Given the description of an element on the screen output the (x, y) to click on. 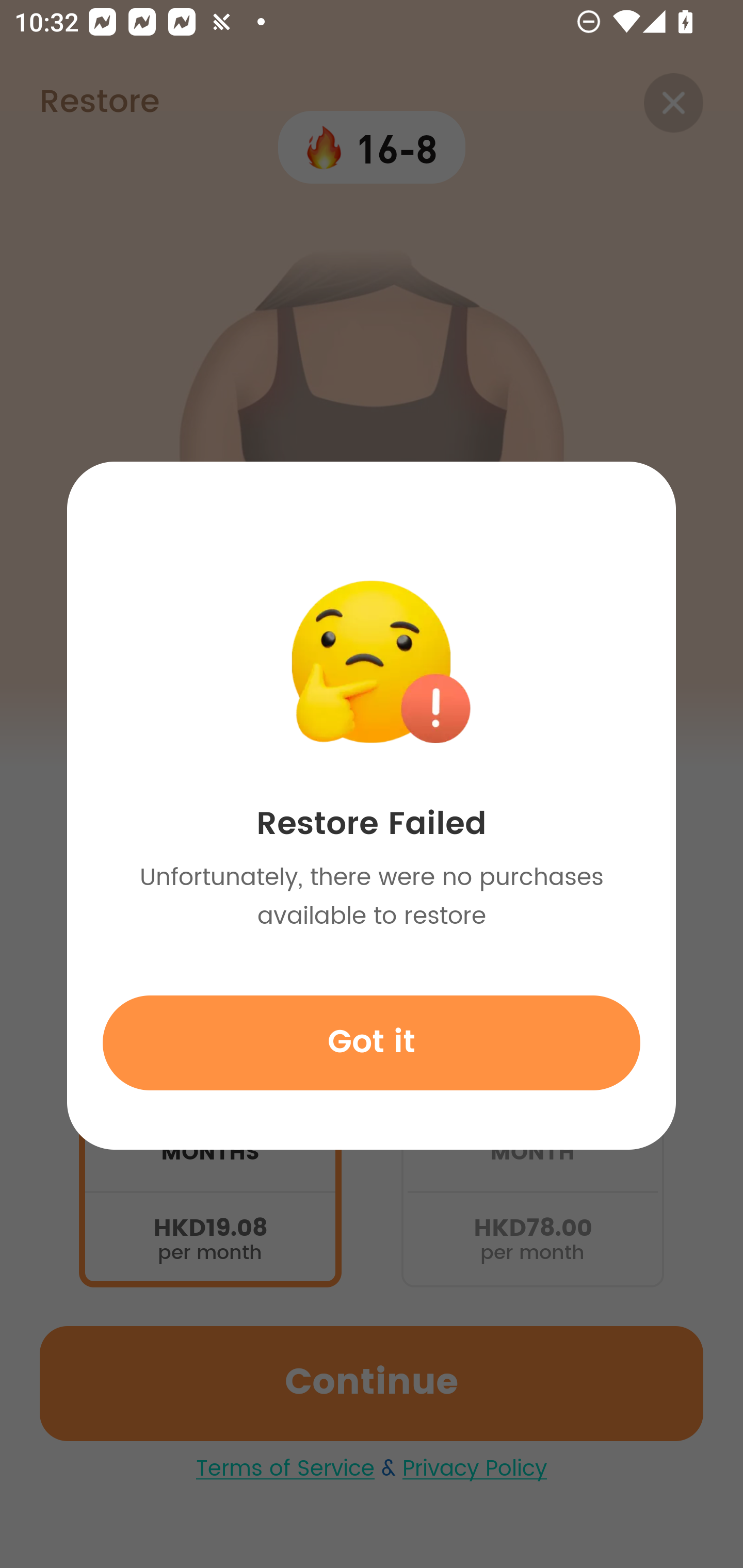
Got it (371, 1042)
